Given the description of an element on the screen output the (x, y) to click on. 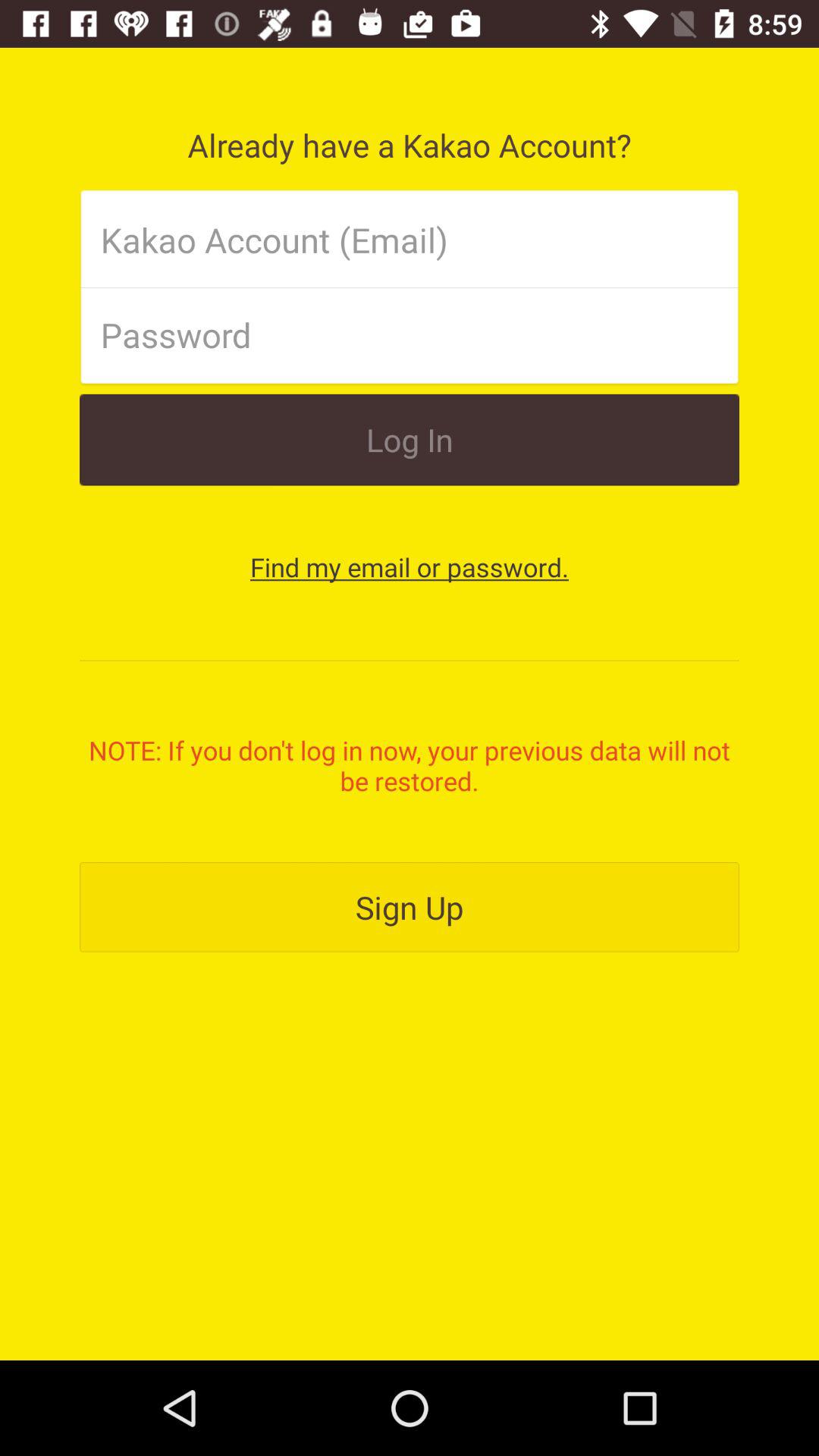
choose item below the note if you icon (409, 907)
